Given the description of an element on the screen output the (x, y) to click on. 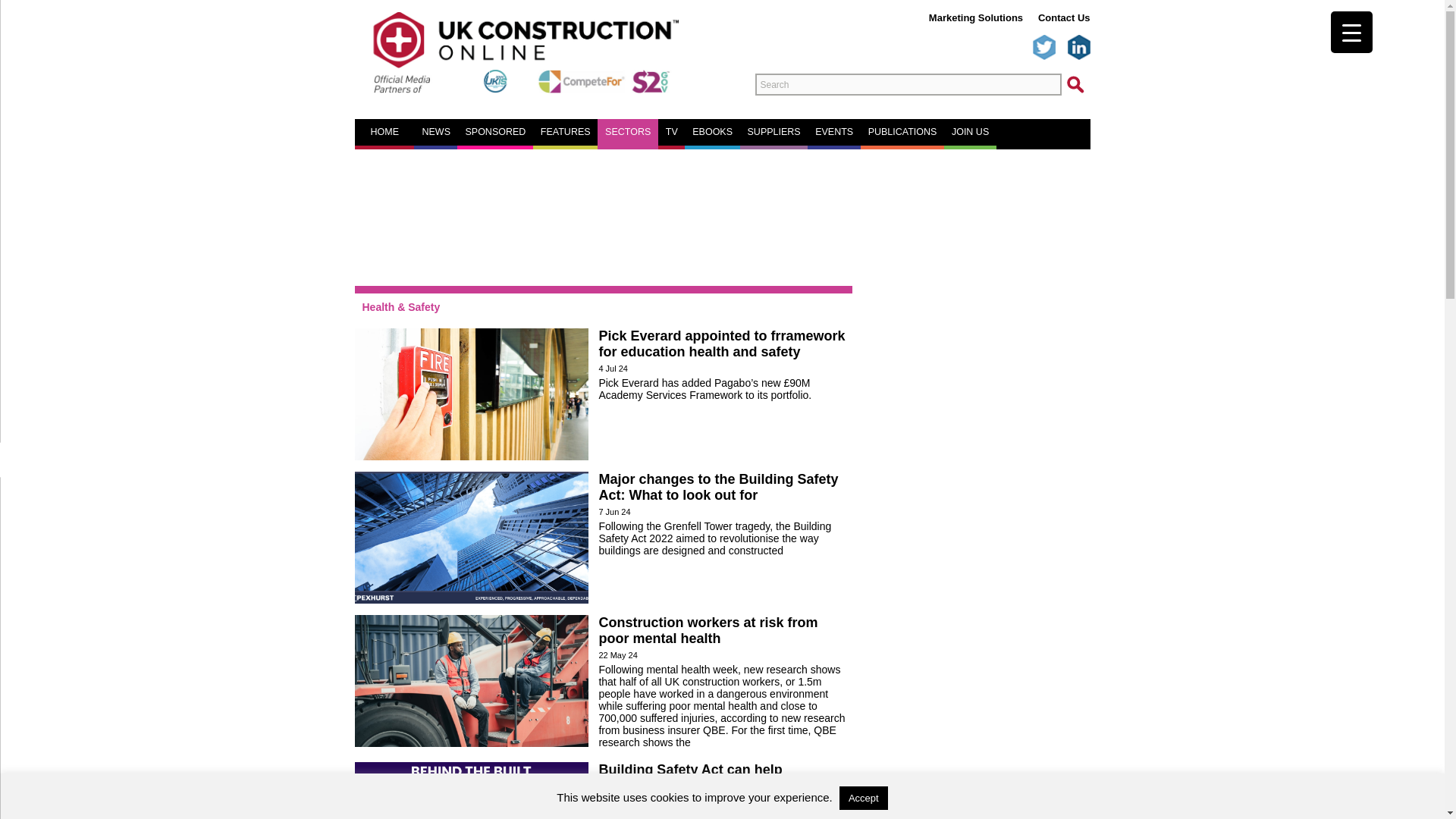
3rd party ad content (722, 209)
SUPPLIERS (774, 131)
SPONSORED (494, 131)
Search (22, 459)
EVENTS (834, 131)
Search (908, 84)
HOME (383, 131)
PUBLICATIONS (902, 131)
Marketing Solutions (975, 17)
JOIN US (970, 131)
Contact Us (1064, 17)
FEATURES (565, 131)
Search (908, 84)
TV (671, 131)
SECTORS (627, 131)
